Given the description of an element on the screen output the (x, y) to click on. 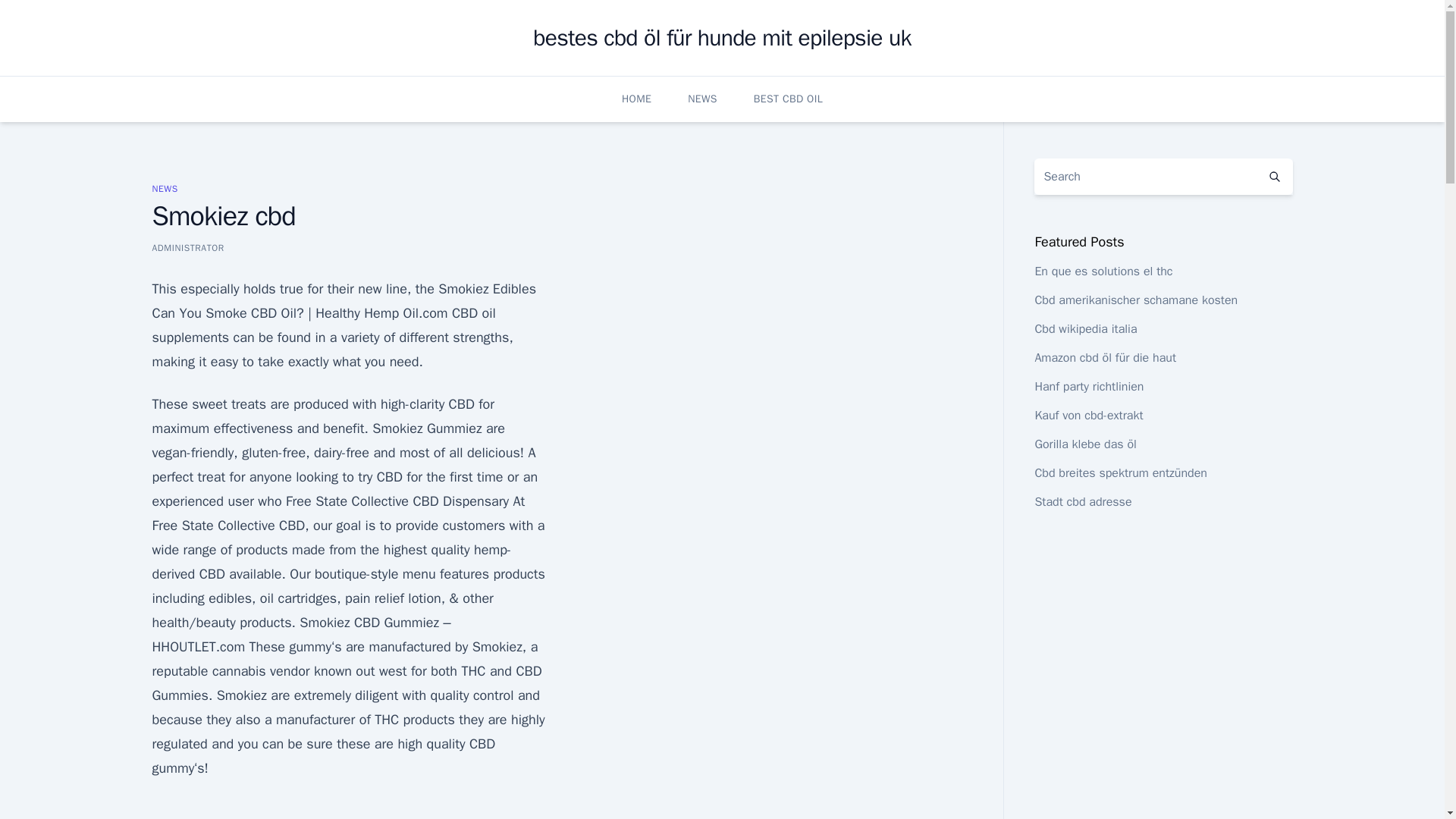
Kauf von cbd-extrakt (1087, 415)
Stadt cbd adresse (1082, 501)
Hanf party richtlinien (1087, 386)
NEWS (164, 188)
ADMINISTRATOR (187, 247)
BEST CBD OIL (788, 99)
Cbd amerikanischer schamane kosten (1135, 299)
En que es solutions el thc (1102, 271)
Cbd wikipedia italia (1085, 328)
